Given the description of an element on the screen output the (x, y) to click on. 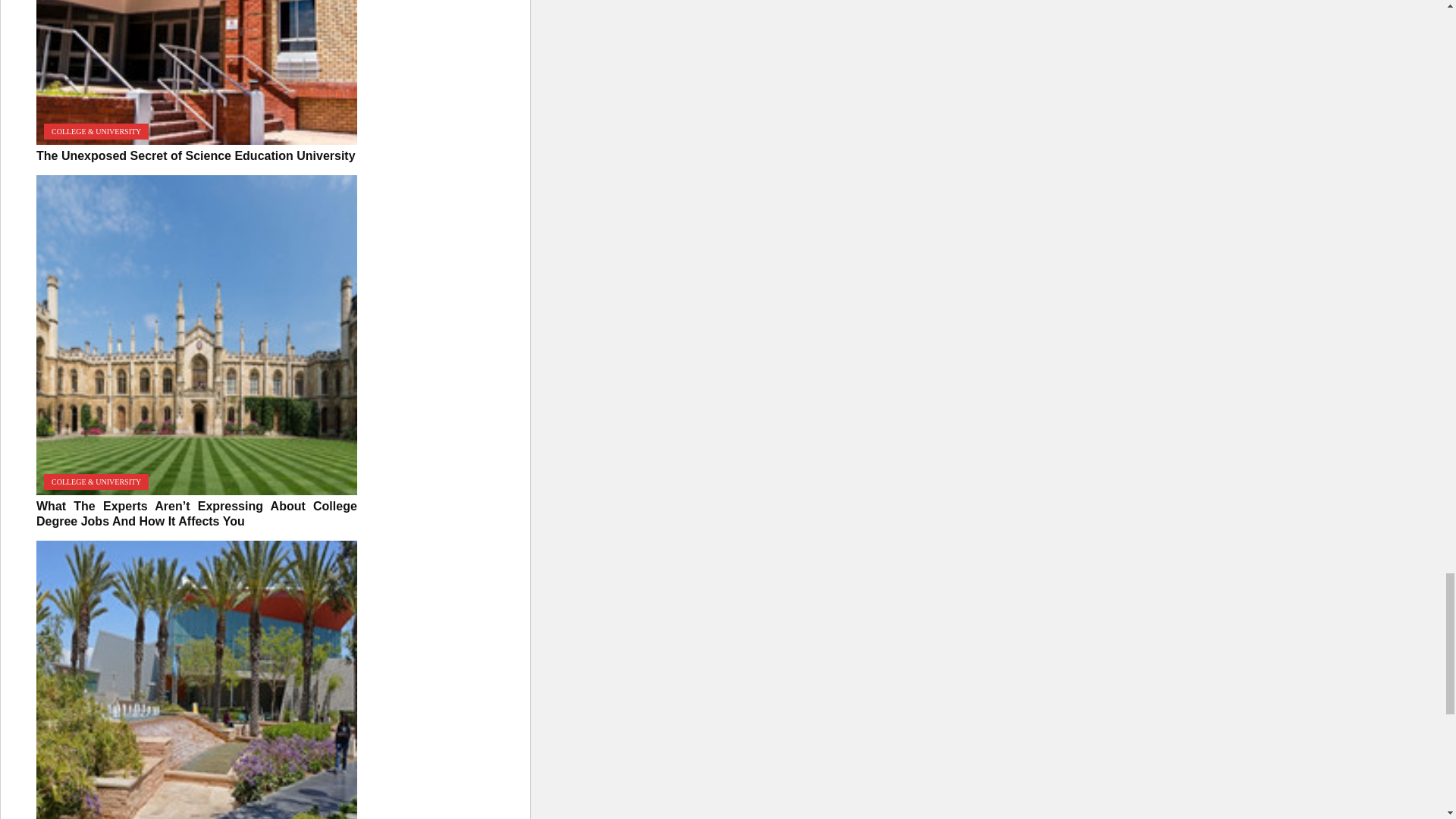
The Unexposed Secret of Science Education University (196, 72)
